Given the description of an element on the screen output the (x, y) to click on. 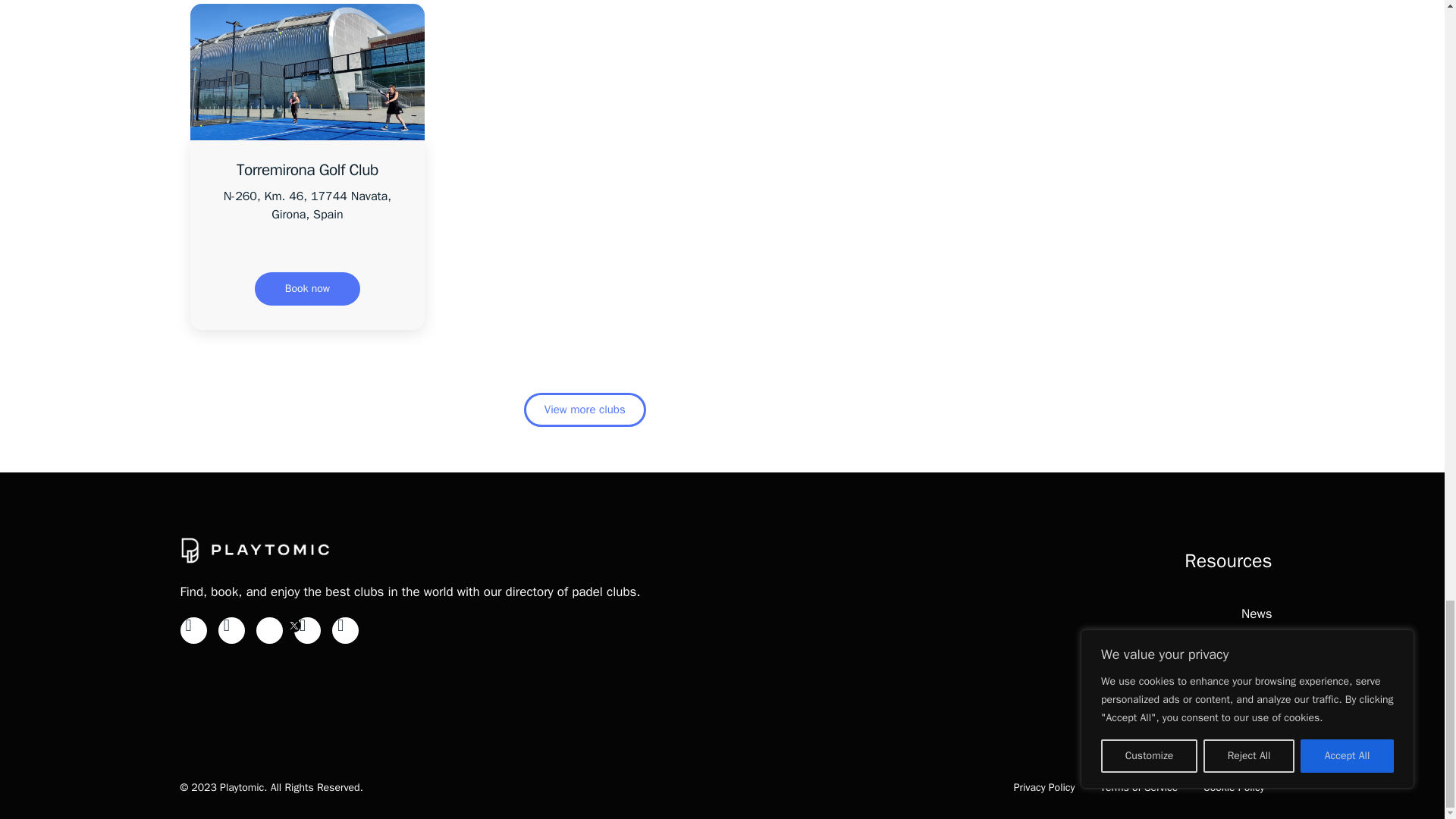
Book now (306, 288)
View more clubs (585, 409)
